Given the description of an element on the screen output the (x, y) to click on. 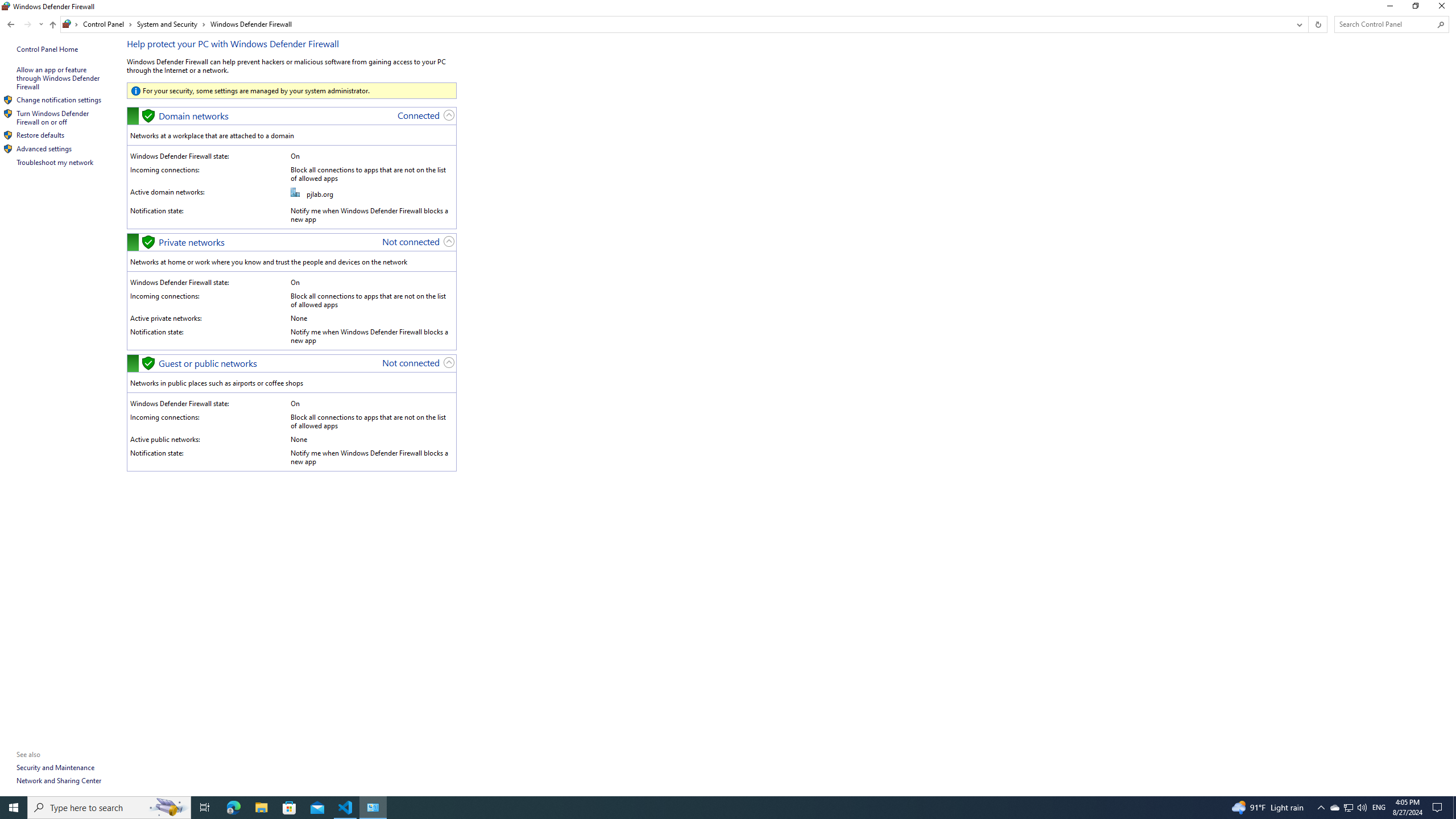
All locations (70, 23)
Troubleshoot my network (55, 162)
System (6, 6)
Microsoft Store (289, 807)
Advanced settings (44, 148)
Start (13, 807)
System and Security (171, 23)
Action Center, No new notifications (1439, 807)
Search (1441, 24)
Recent locations (40, 23)
Running applications (706, 807)
Security and Maintenance (56, 767)
Task View (204, 807)
Notification Chevron (1320, 807)
Microsoft Edge (233, 807)
